Given the description of an element on the screen output the (x, y) to click on. 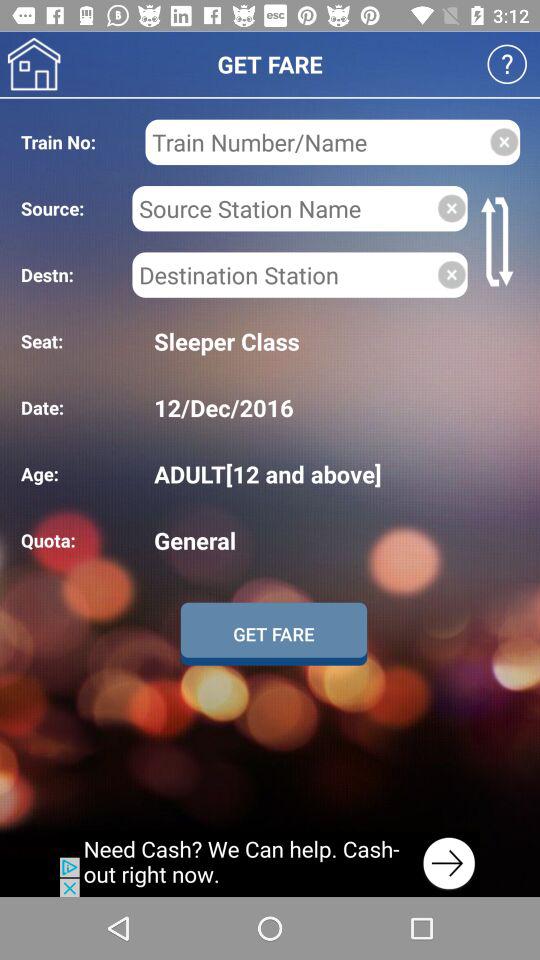
go to close (504, 141)
